Given the description of an element on the screen output the (x, y) to click on. 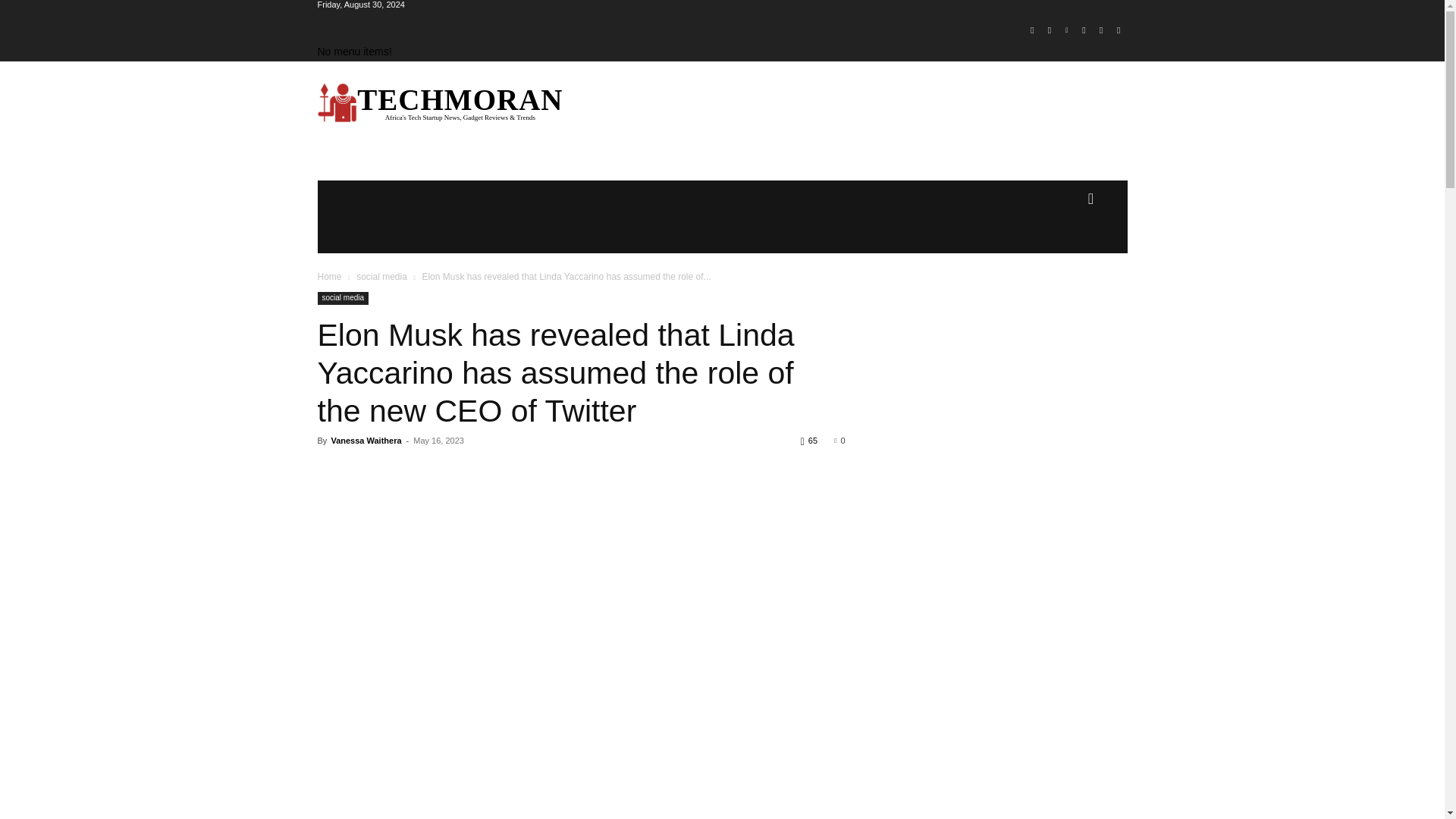
Telegram (1084, 30)
Linkedin (1066, 30)
Instagram (1049, 30)
View all posts in social media (381, 276)
Youtube (1117, 30)
Twitter (1101, 30)
Facebook (1032, 30)
